Given the description of an element on the screen output the (x, y) to click on. 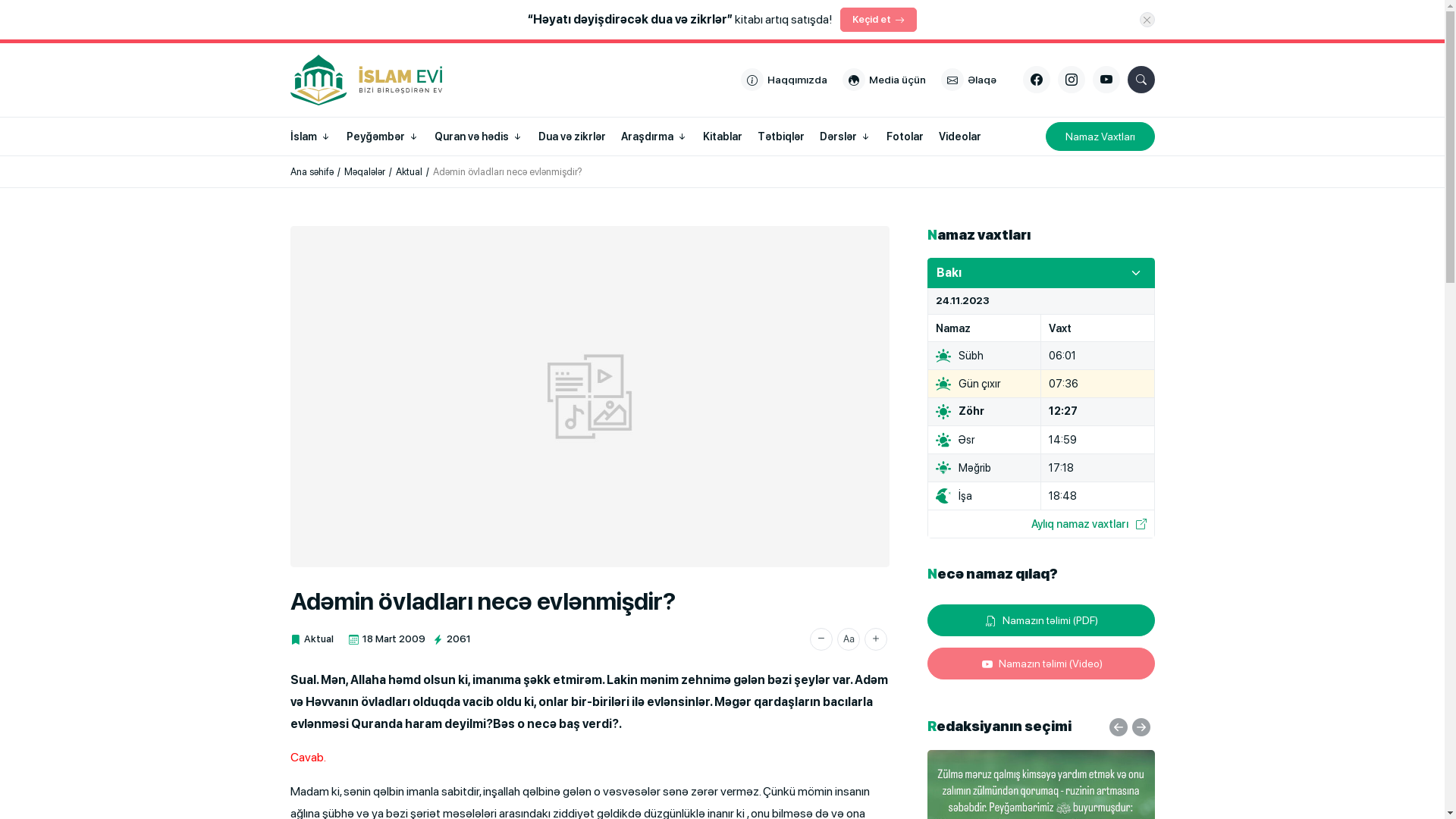
Aktual Element type: text (408, 171)
Instagram Element type: text (1070, 79)
Fotolar Element type: text (904, 136)
Kitablar Element type: text (721, 136)
Videolar Element type: text (959, 136)
Facebook Element type: text (1035, 79)
Youtube Element type: text (1105, 79)
Aktual Element type: text (310, 638)
